Given the description of an element on the screen output the (x, y) to click on. 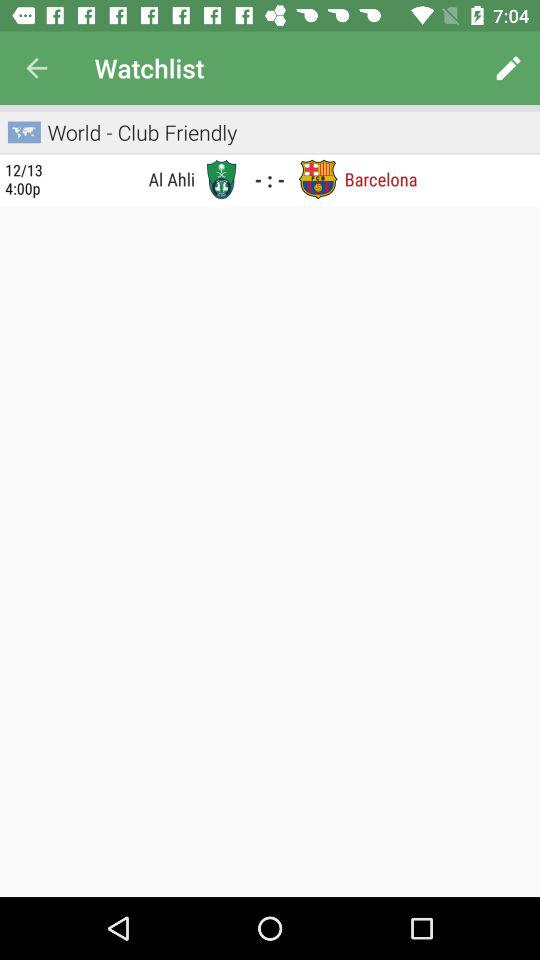
choose item next to the al ahli icon (221, 179)
